Given the description of an element on the screen output the (x, y) to click on. 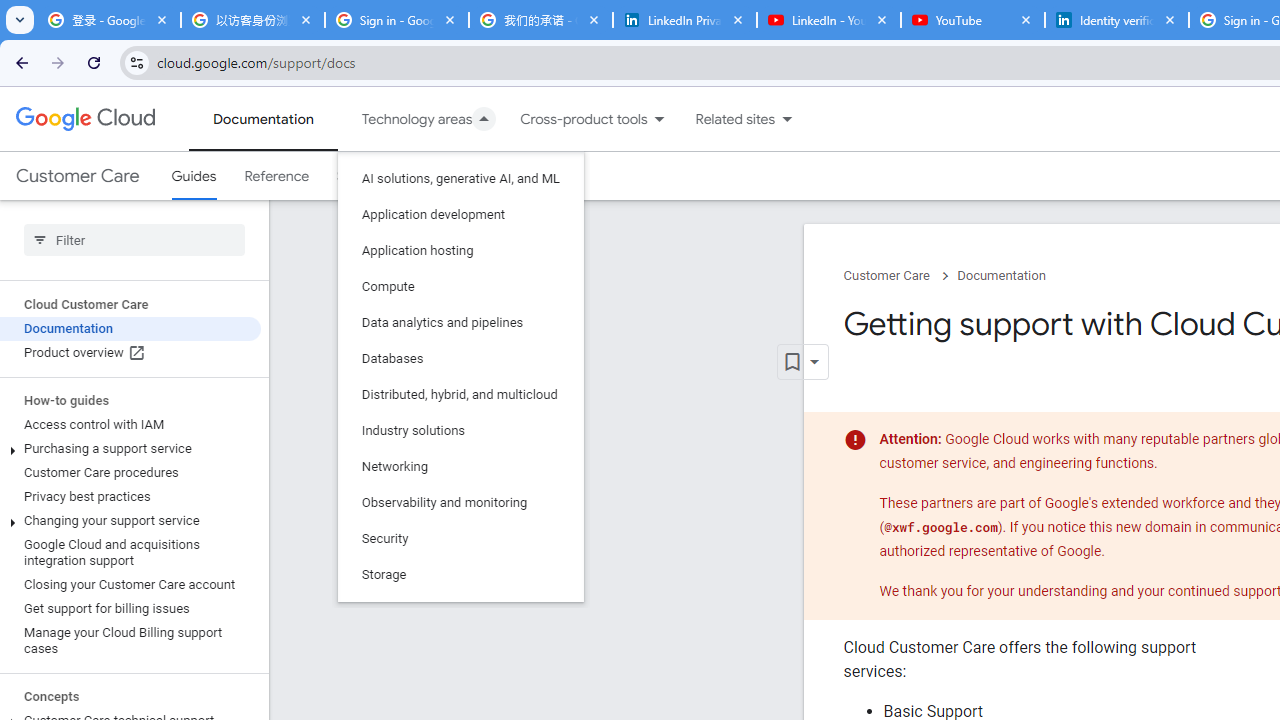
Identity verification via Persona | LinkedIn Help (1116, 20)
Guides, selected (193, 175)
Privacy best practices (130, 497)
Get support for billing issues (130, 608)
LinkedIn Privacy Policy (684, 20)
Dropdown menu for Technology areas (484, 119)
Dropdown menu for Cross-product tools (659, 119)
Sign in - Google Accounts (396, 20)
